Given the description of an element on the screen output the (x, y) to click on. 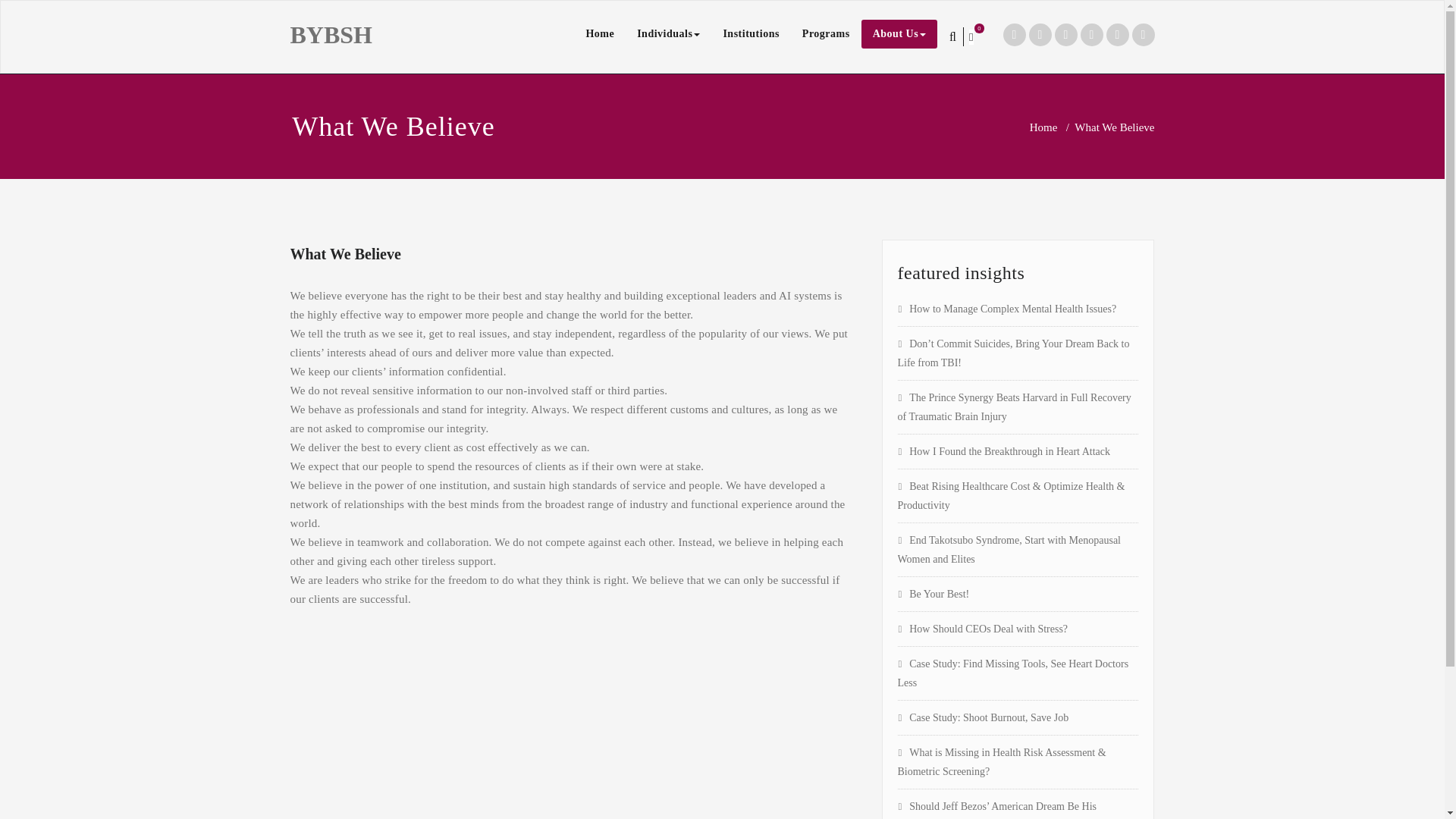
About Us (899, 33)
Home (1043, 127)
How I Found the Breakthrough in Heart Attack (1004, 451)
Be Your Best! (933, 593)
How to Manage Complex Mental Health Issues? (1007, 308)
Individuals (668, 33)
BYBSH (330, 34)
Institutions (750, 33)
